Given the description of an element on the screen output the (x, y) to click on. 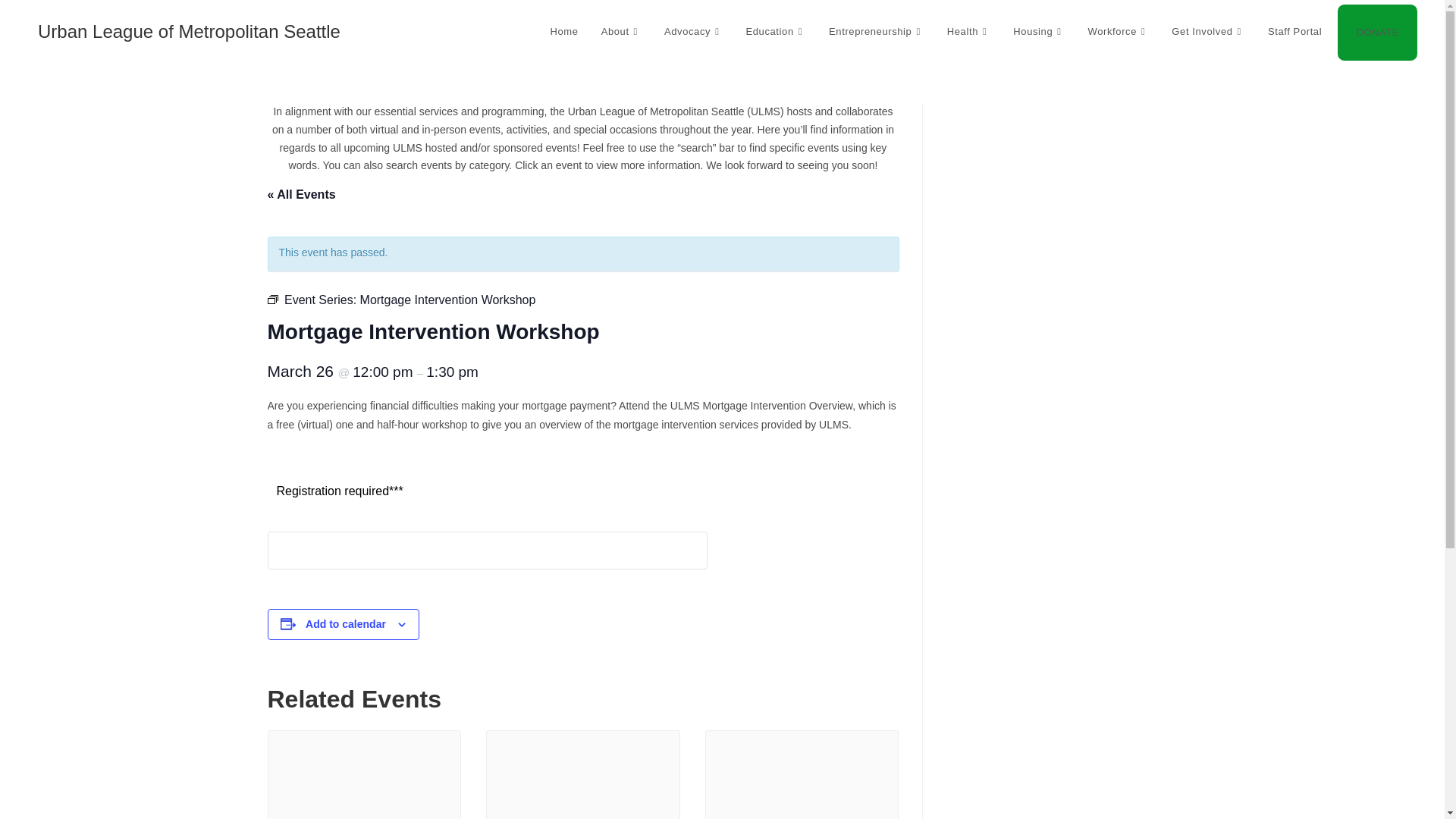
Urban League of Metropolitan Seattle (188, 31)
Housing (1038, 31)
Health (969, 31)
Event Series (272, 298)
Home (563, 31)
About (620, 31)
Advocacy (693, 31)
Entrepreneurship (876, 31)
Education (774, 31)
